Given the description of an element on the screen output the (x, y) to click on. 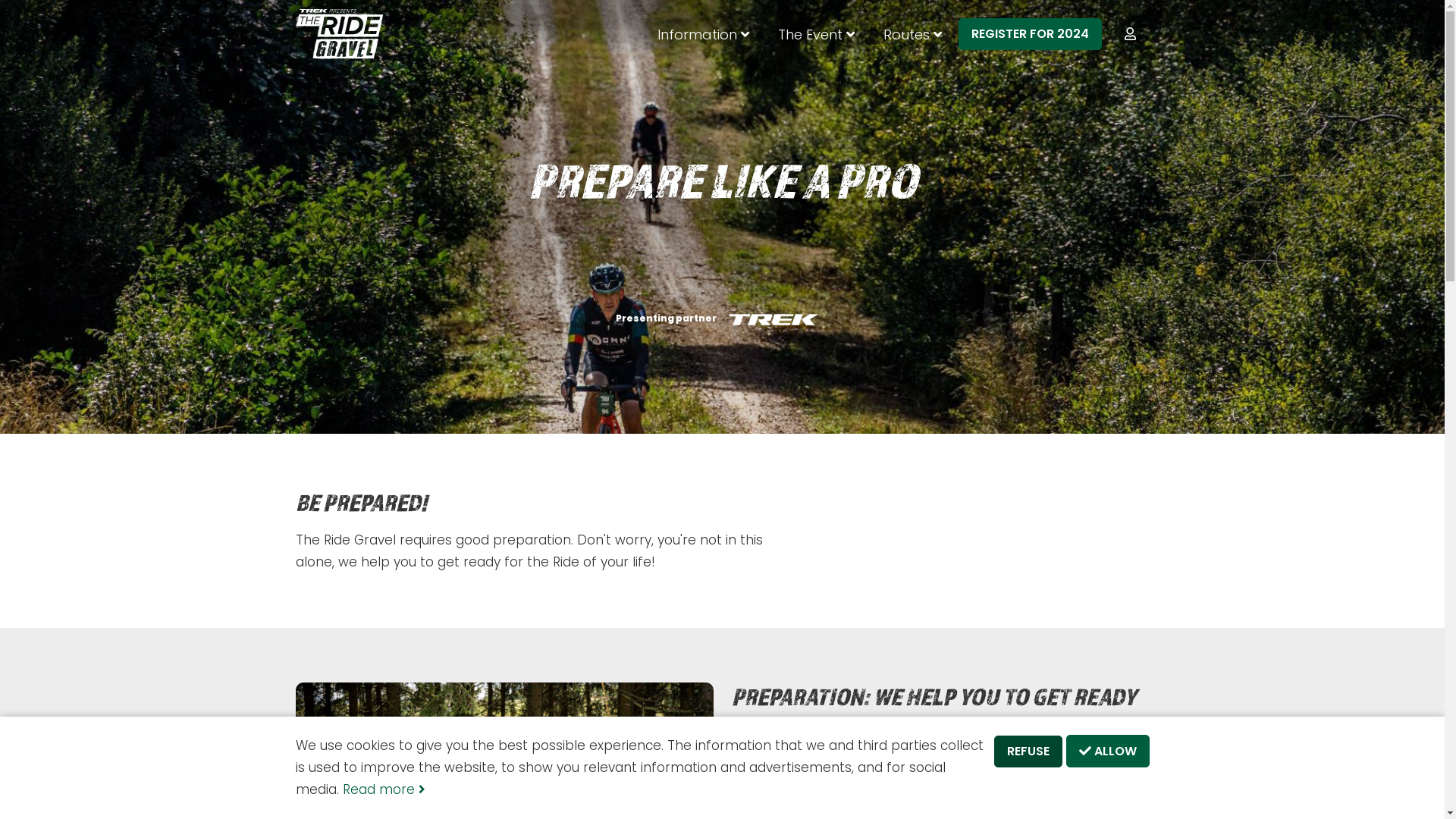
ALLOW Element type: text (1107, 750)
Read more Element type: text (383, 789)
REGISTER FOR 2024 Element type: text (1029, 34)
REFUSE Element type: text (1027, 751)
